Given the description of an element on the screen output the (x, y) to click on. 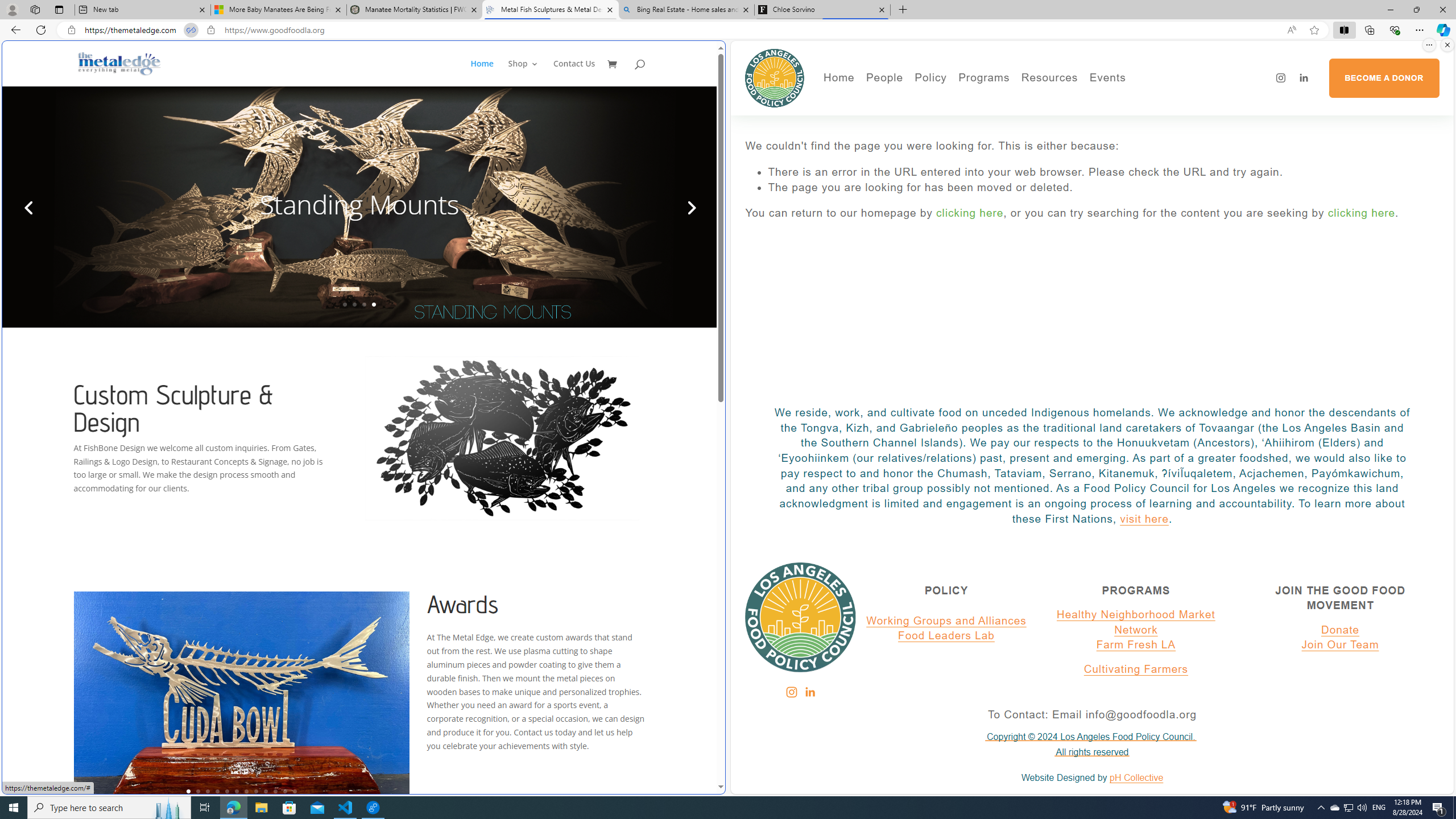
1 (188, 790)
Farm Fresh LA (1136, 645)
Events (1146, 99)
Publications (994, 116)
Bing Real Estate - Home sales and rental listings (685, 9)
6 (236, 790)
About (922, 99)
Healthy Markets LA (1015, 99)
Metal Fish Sculptures & Metal Designs (119, 63)
Class: sqs-svg-icon--social (809, 692)
